Given the description of an element on the screen output the (x, y) to click on. 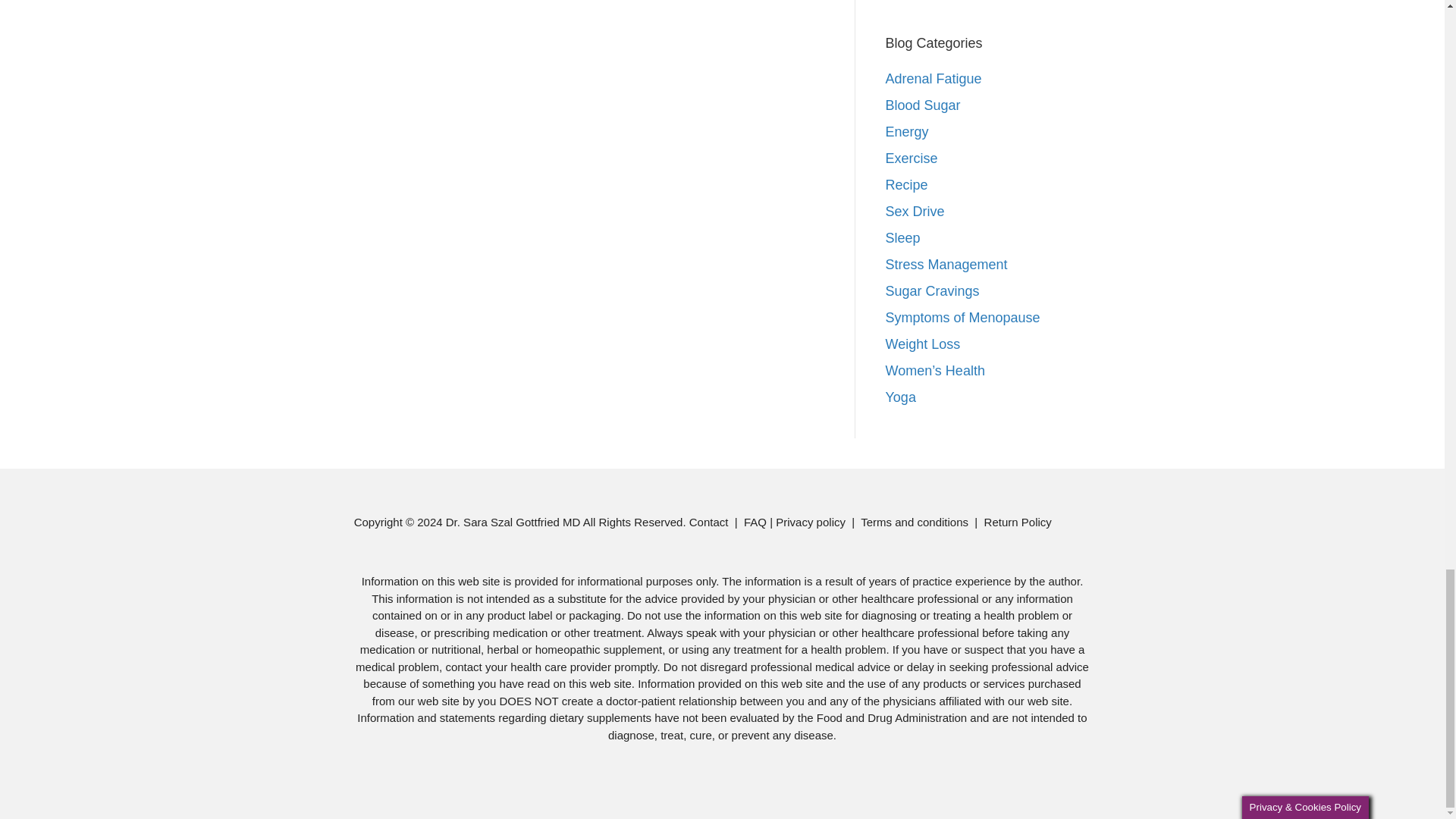
Sex Drive (914, 211)
Blood Sugar (922, 105)
Sugar Cravings (932, 290)
Adrenal Fatigue (933, 78)
Energy (906, 131)
Exercise (911, 158)
Sleep (902, 237)
Stress Management (946, 264)
Symptoms of Menopause (963, 317)
Recipe (906, 184)
Weight Loss (922, 344)
